Given the description of an element on the screen output the (x, y) to click on. 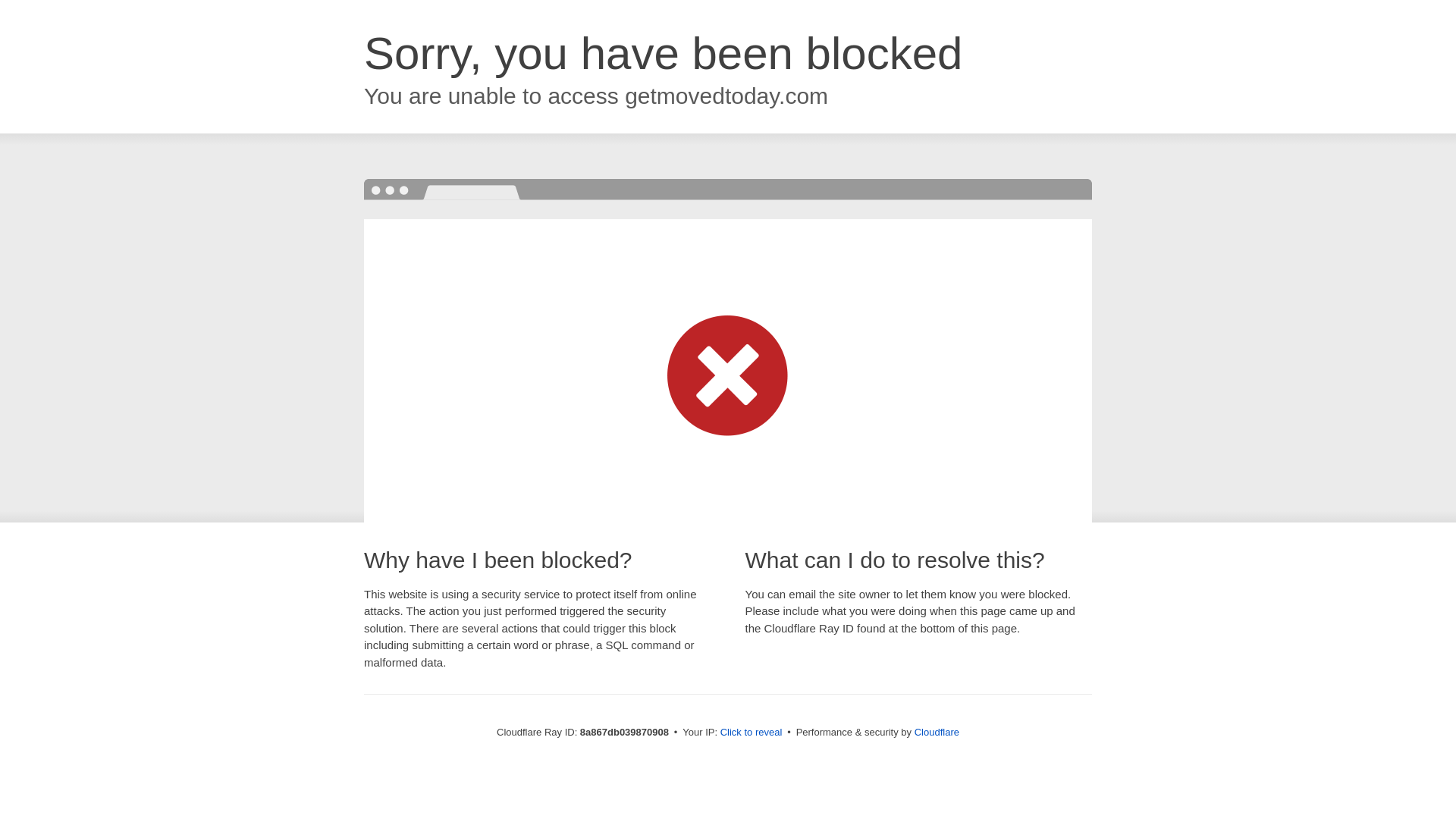
Click to reveal (751, 732)
Cloudflare (936, 731)
